Given the description of an element on the screen output the (x, y) to click on. 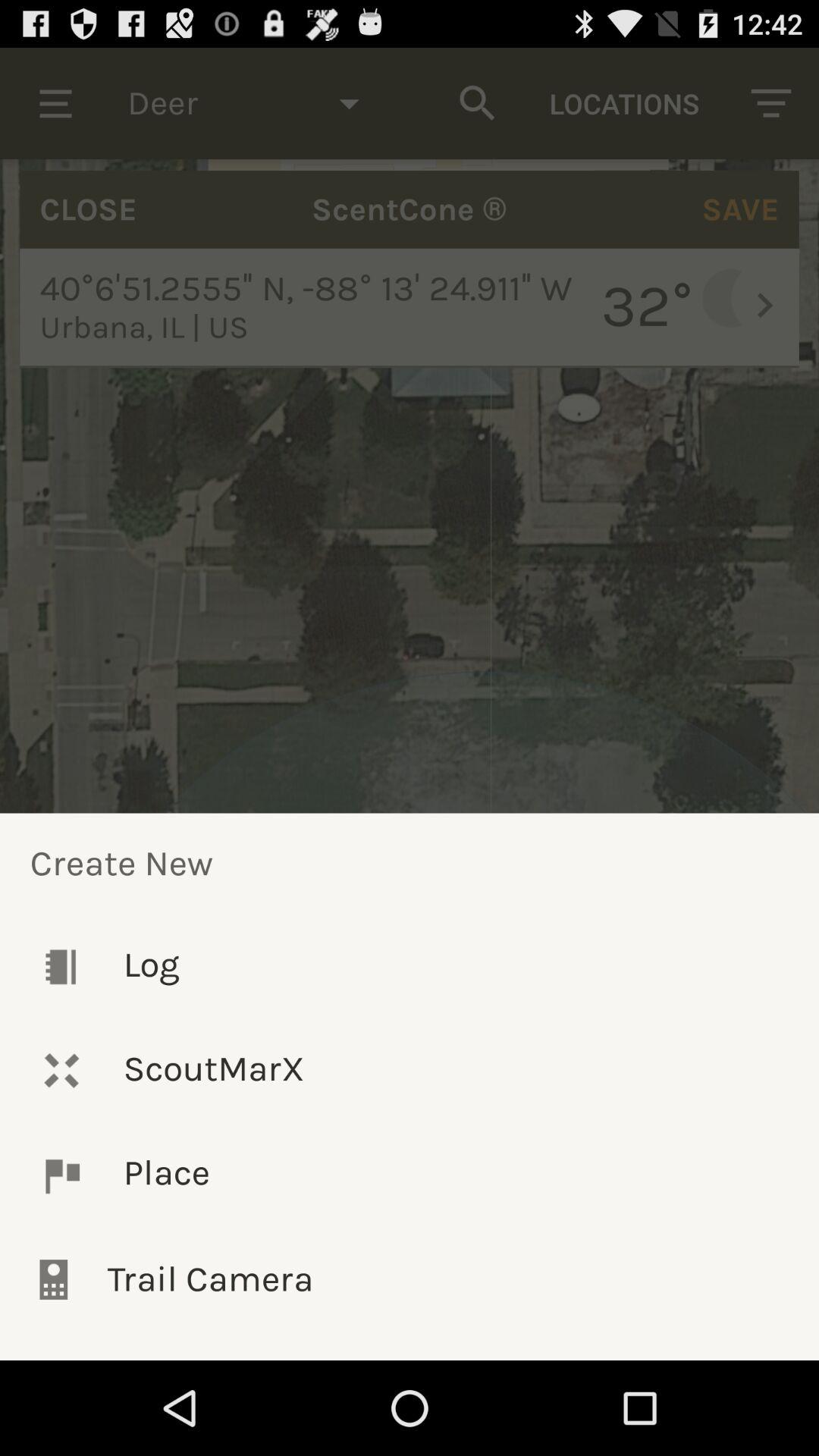
launch the place icon (409, 1175)
